Given the description of an element on the screen output the (x, y) to click on. 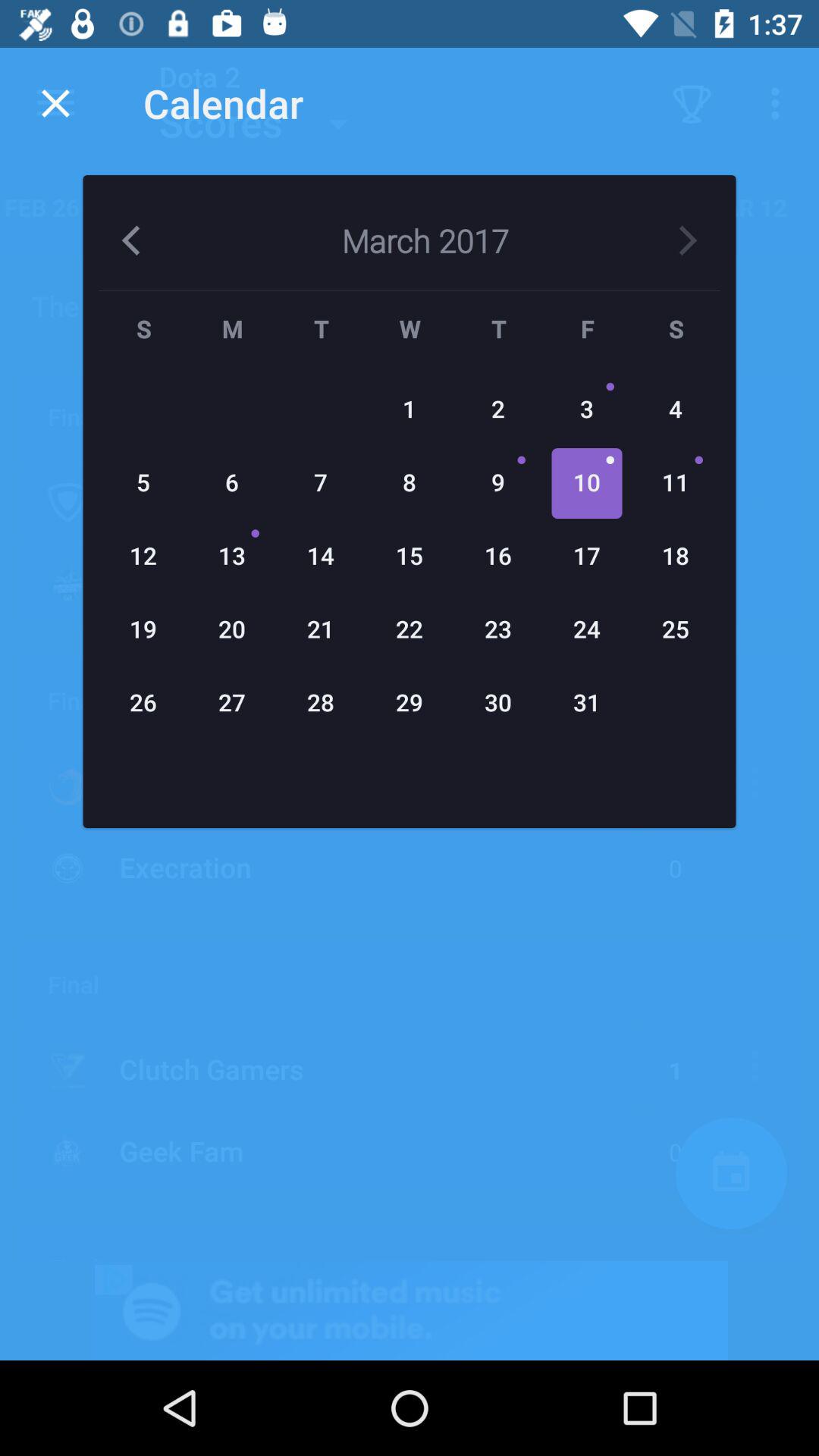
delte the calender (55, 103)
